Given the description of an element on the screen output the (x, y) to click on. 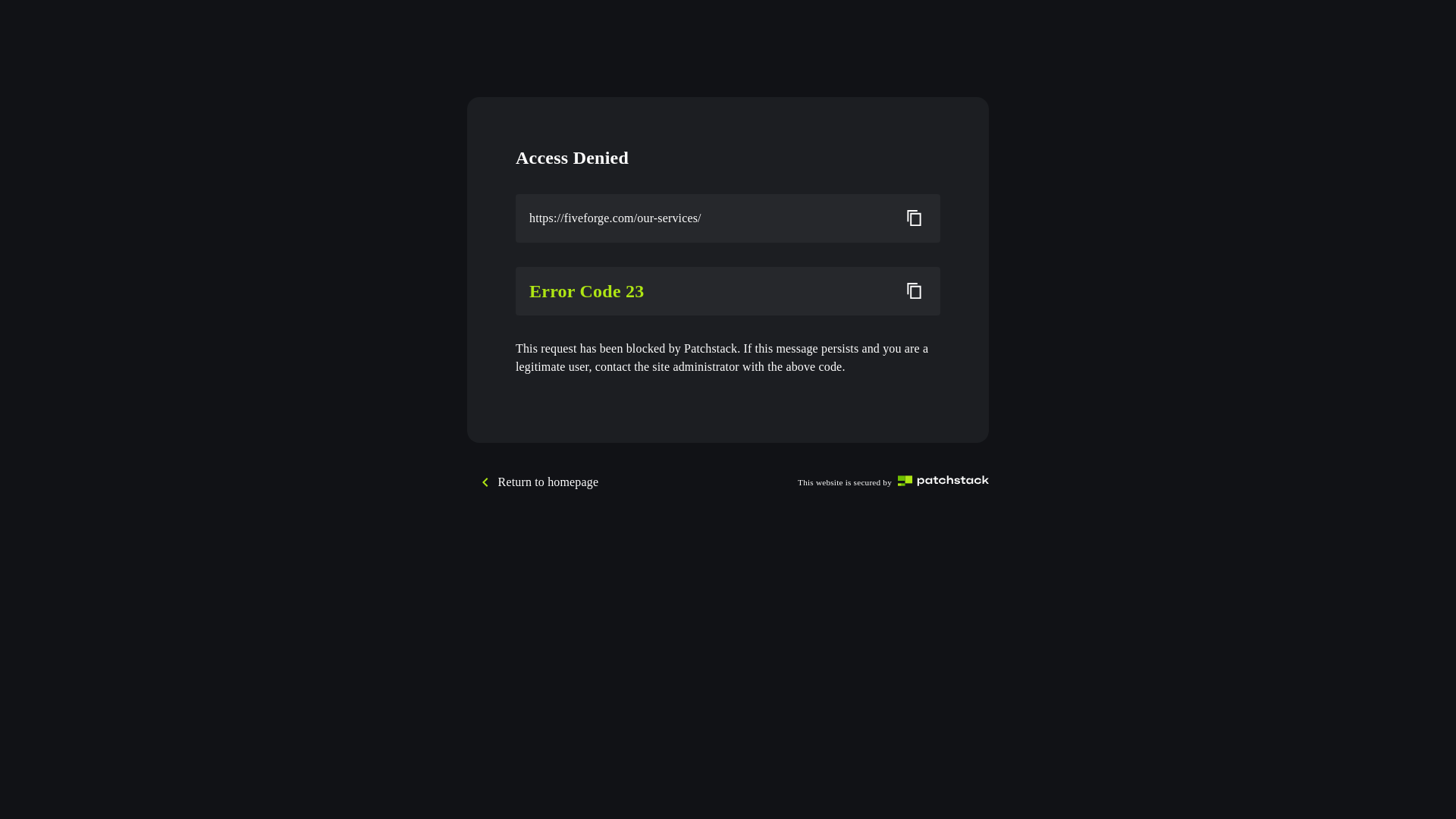
Error Code 23 (709, 290)
